Given the description of an element on the screen output the (x, y) to click on. 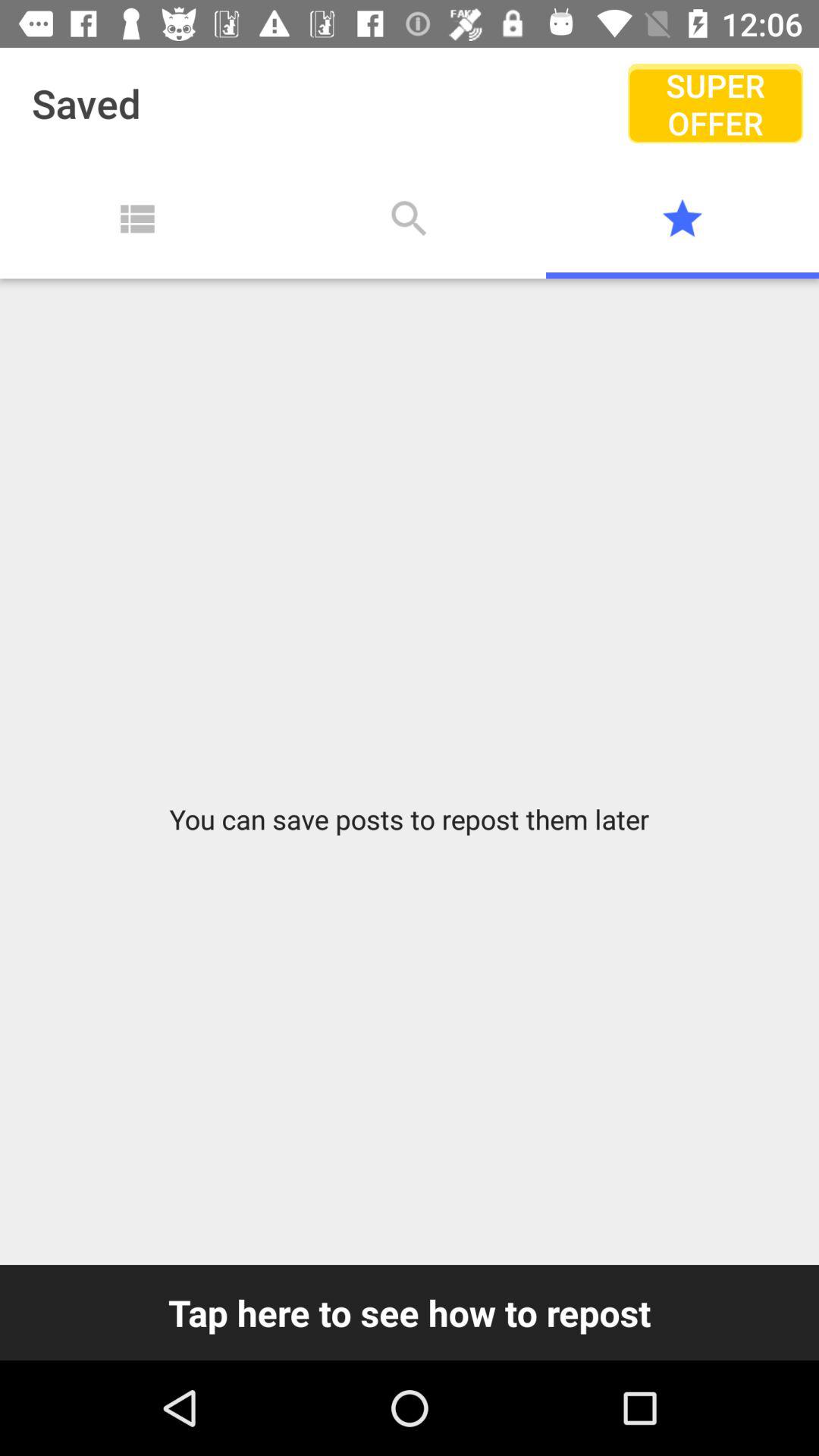
select icon below you can save icon (409, 1312)
